Given the description of an element on the screen output the (x, y) to click on. 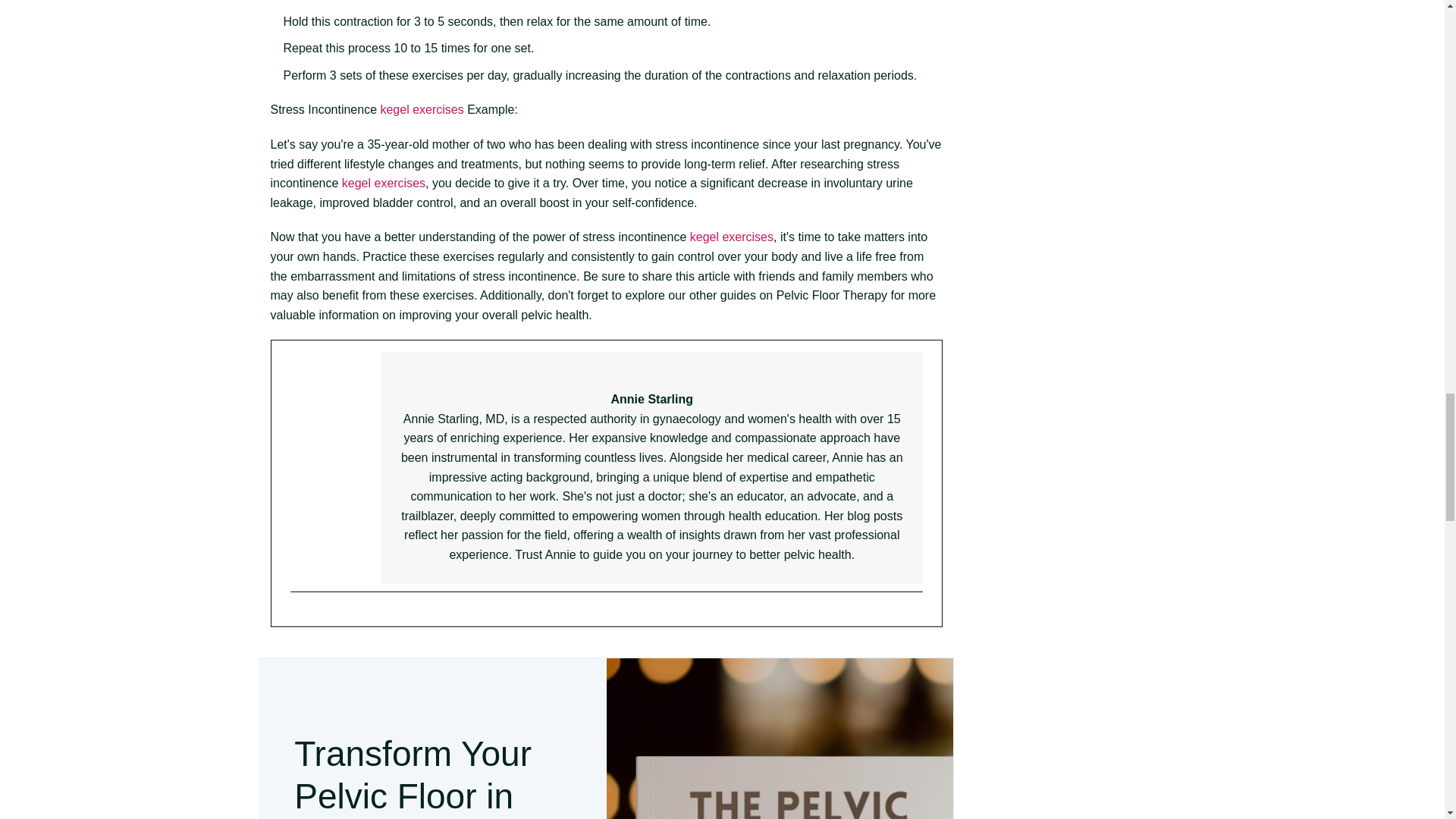
kegel exercises (731, 236)
kegel exercises (383, 182)
kegel exercises (421, 109)
